Given the description of an element on the screen output the (x, y) to click on. 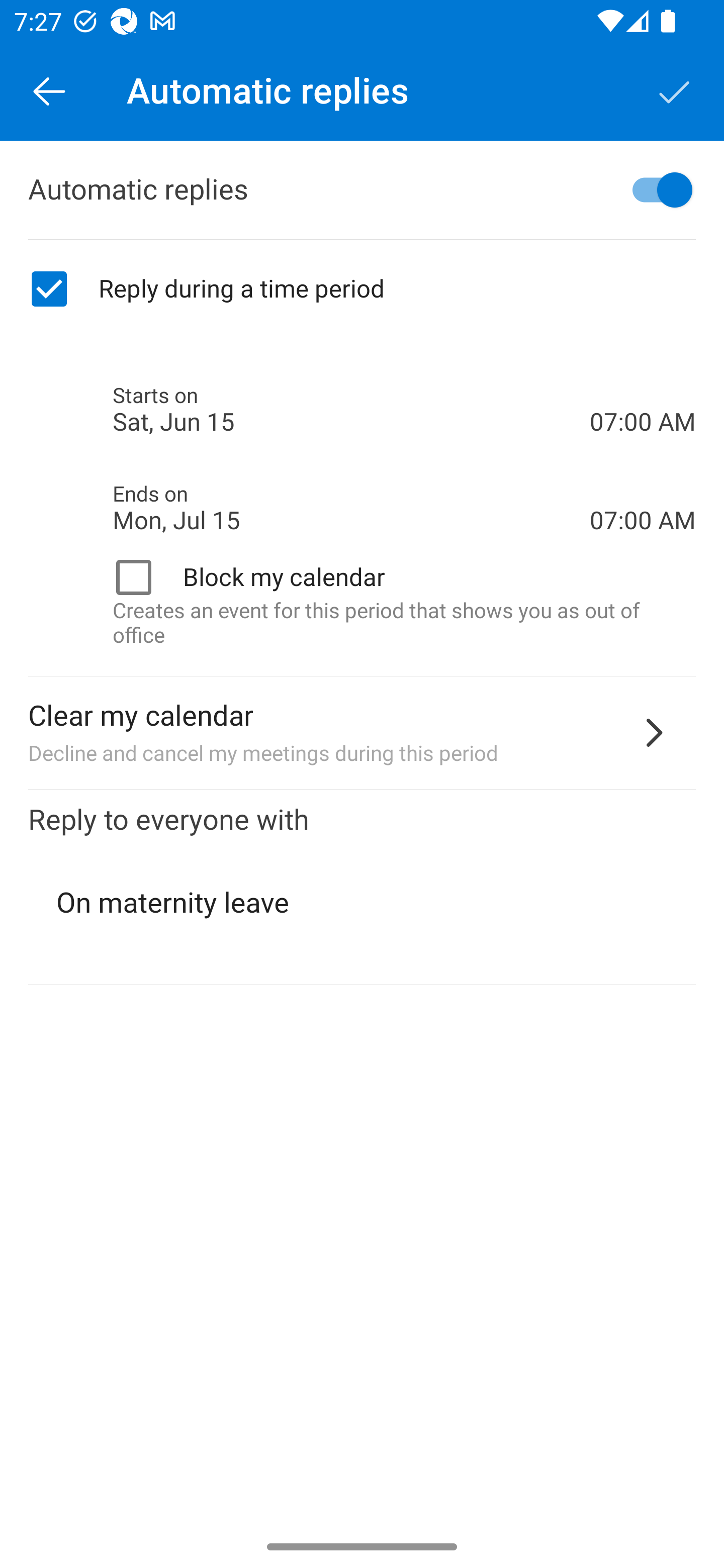
Back (49, 90)
Save (674, 90)
Automatic replies (362, 190)
Reply during a time period (362, 288)
07:00 AM (642, 387)
Starts on Sat, Jun 15 (351, 409)
07:00 AM (642, 485)
Ends on Mon, Jul 15 (351, 507)
Reply to everyone with Edit box On maternity leave (361, 887)
On maternity leave (363, 902)
